Given the description of an element on the screen output the (x, y) to click on. 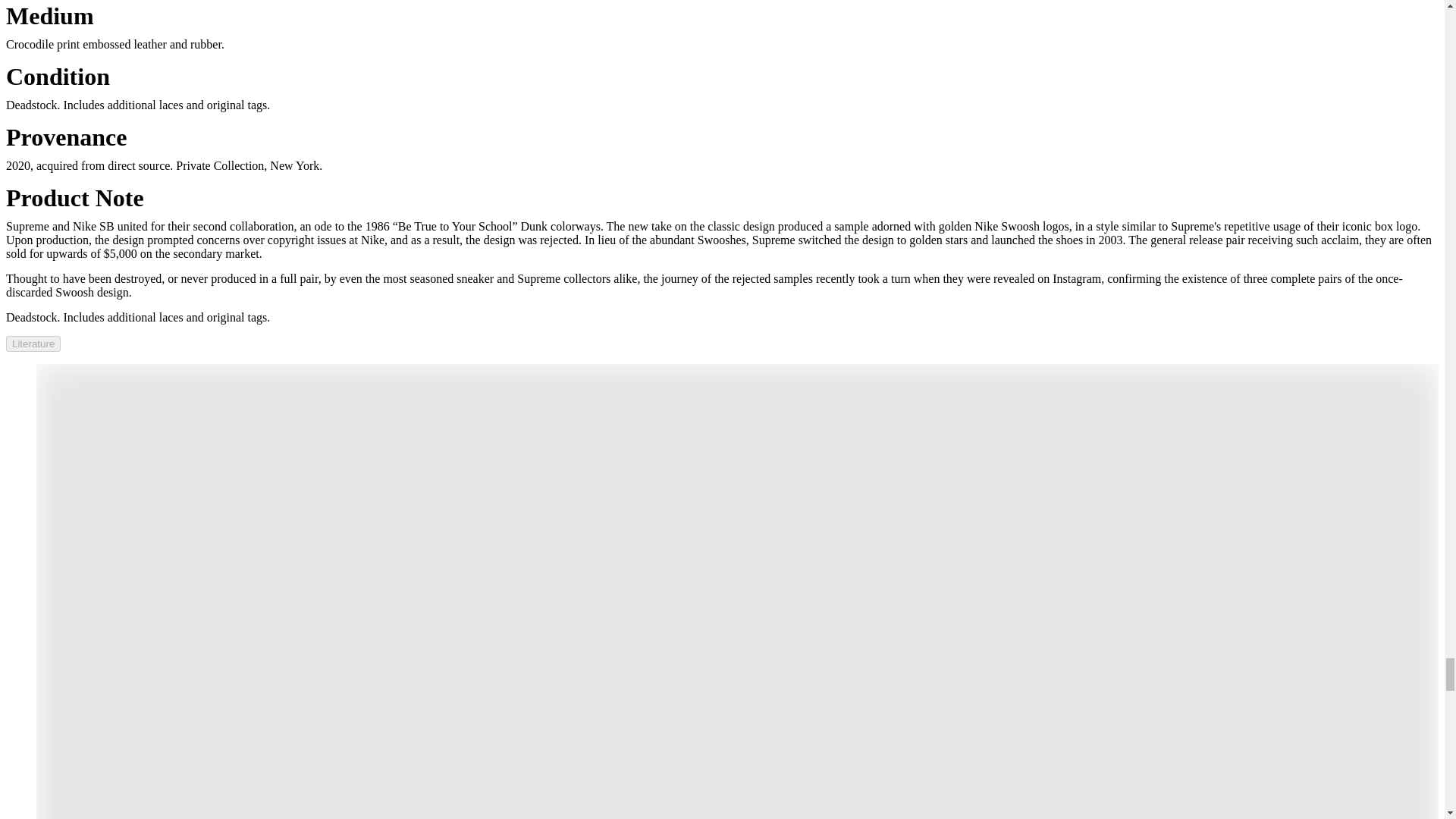
Literature (33, 343)
